Given the description of an element on the screen output the (x, y) to click on. 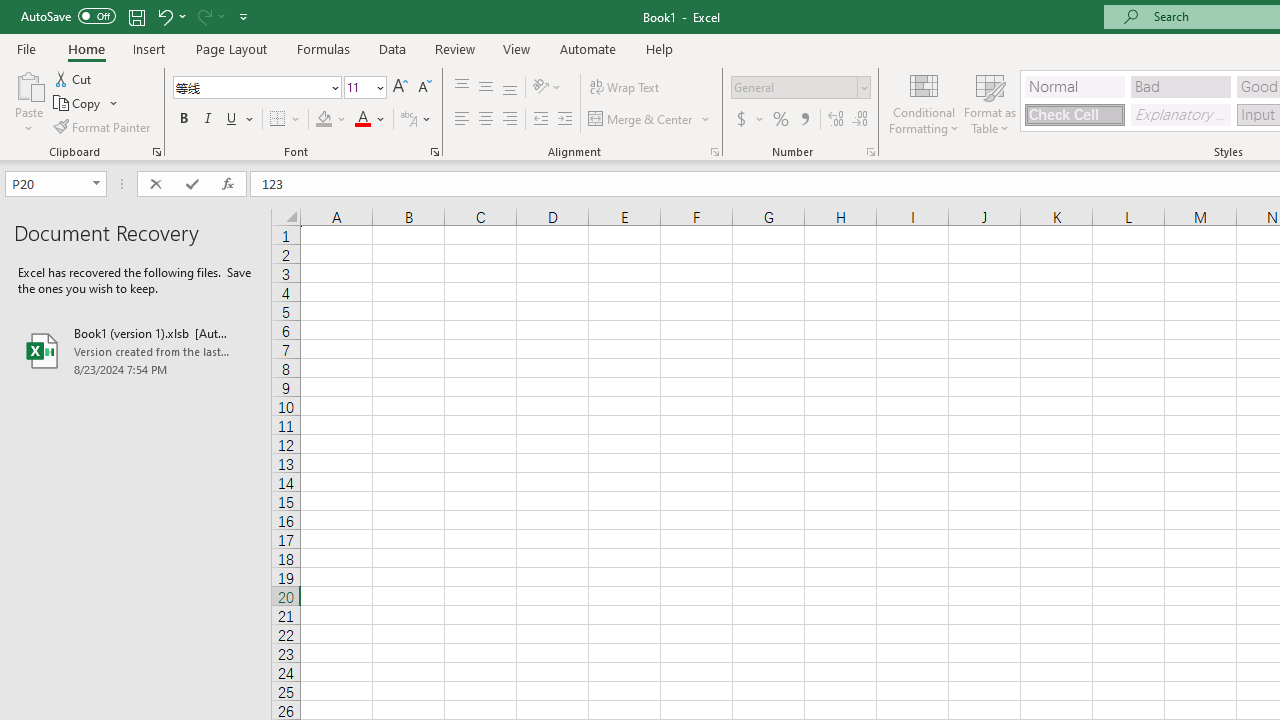
Increase Font Size (399, 87)
Wrap Text (624, 87)
Format Cell Number (870, 151)
